Given the description of an element on the screen output the (x, y) to click on. 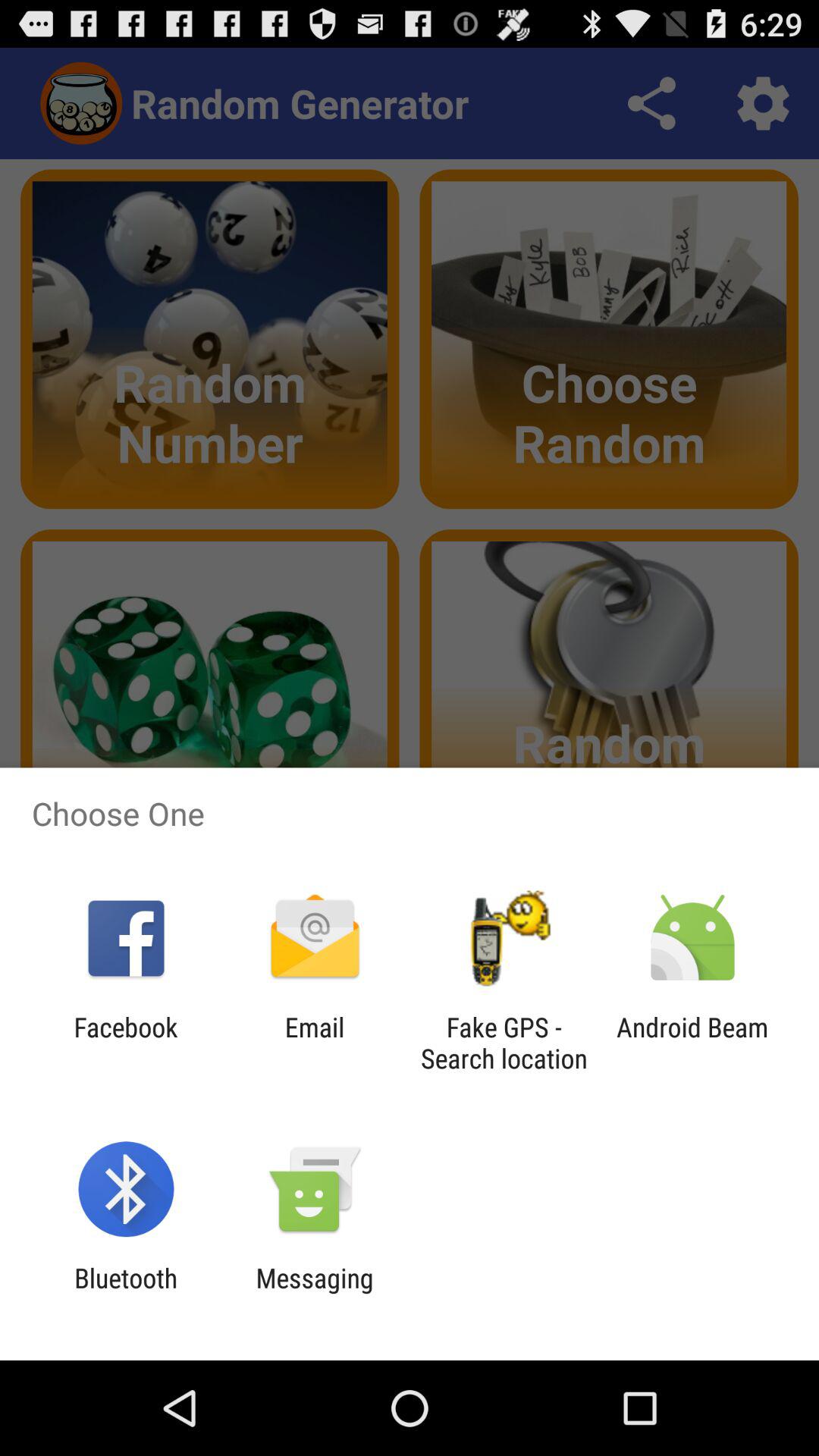
turn on the item next to the android beam (503, 1042)
